Given the description of an element on the screen output the (x, y) to click on. 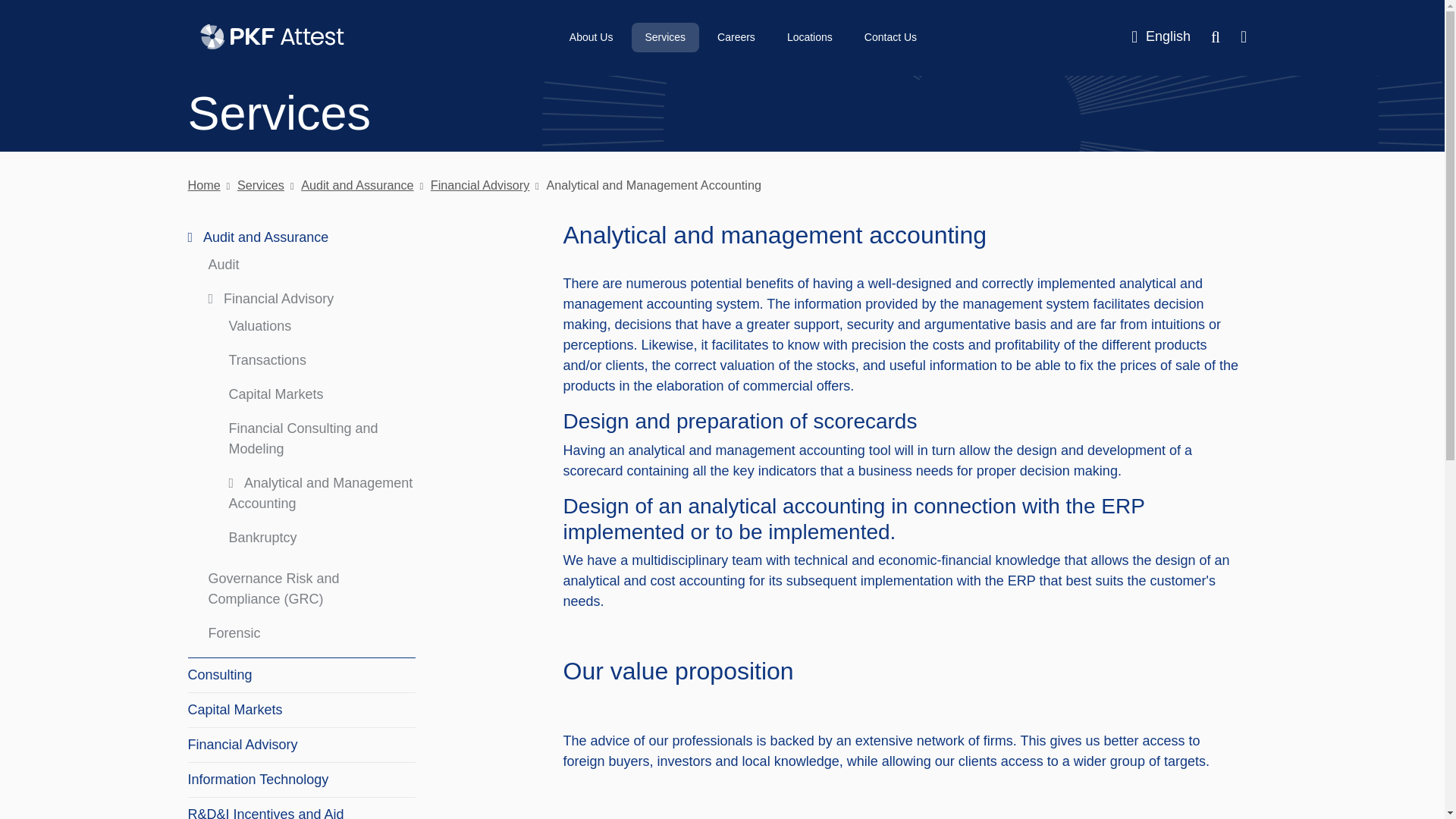
Audit and Assurance (258, 237)
Audit and Assurance (349, 184)
About Us (591, 37)
Careers (736, 37)
Locations (809, 37)
Services (664, 37)
Home (204, 184)
Careers (736, 37)
About Us (591, 37)
Contact Us (890, 37)
